Given the description of an element on the screen output the (x, y) to click on. 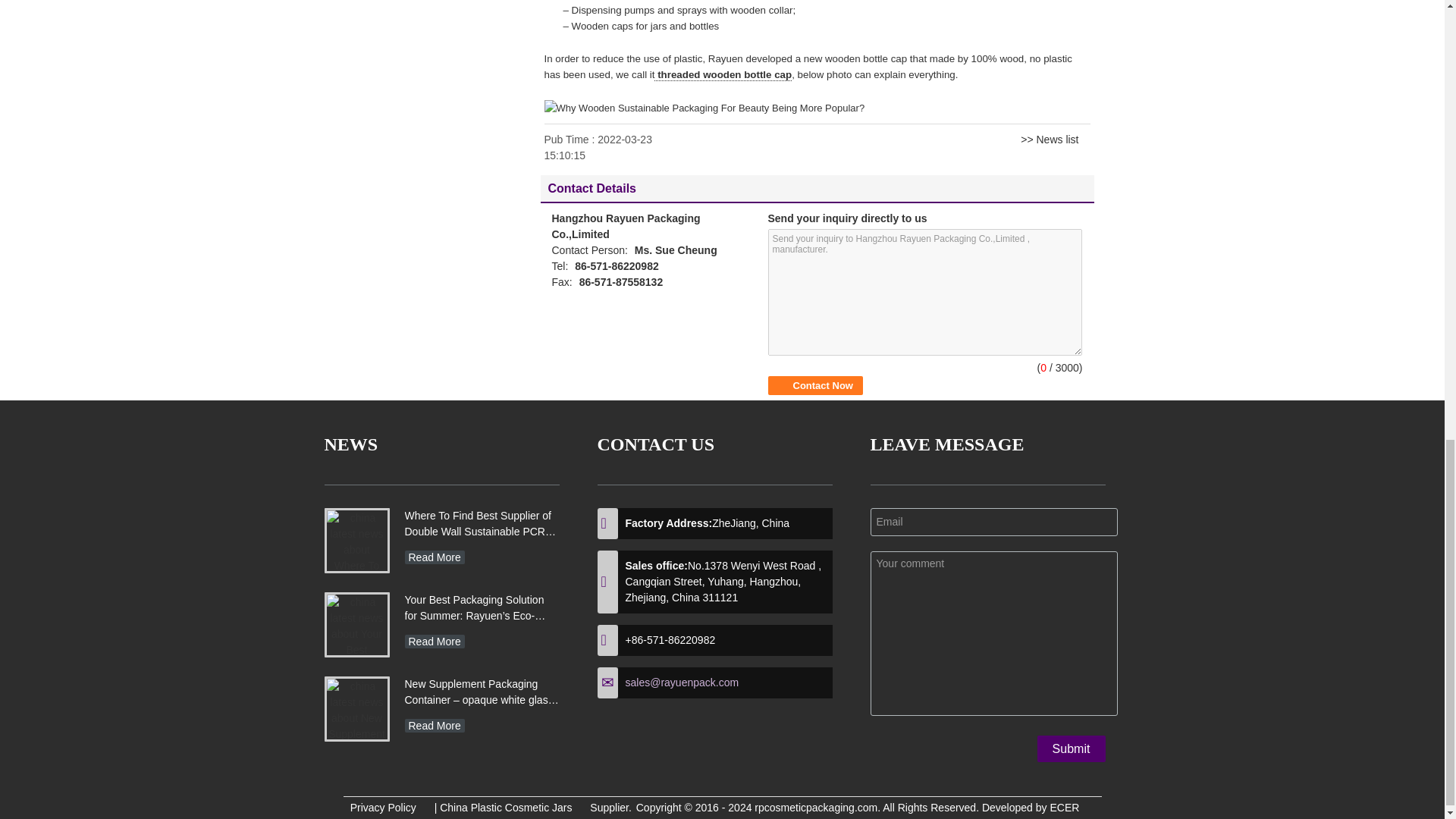
Submit (1070, 748)
Contact Now (814, 384)
